Given the description of an element on the screen output the (x, y) to click on. 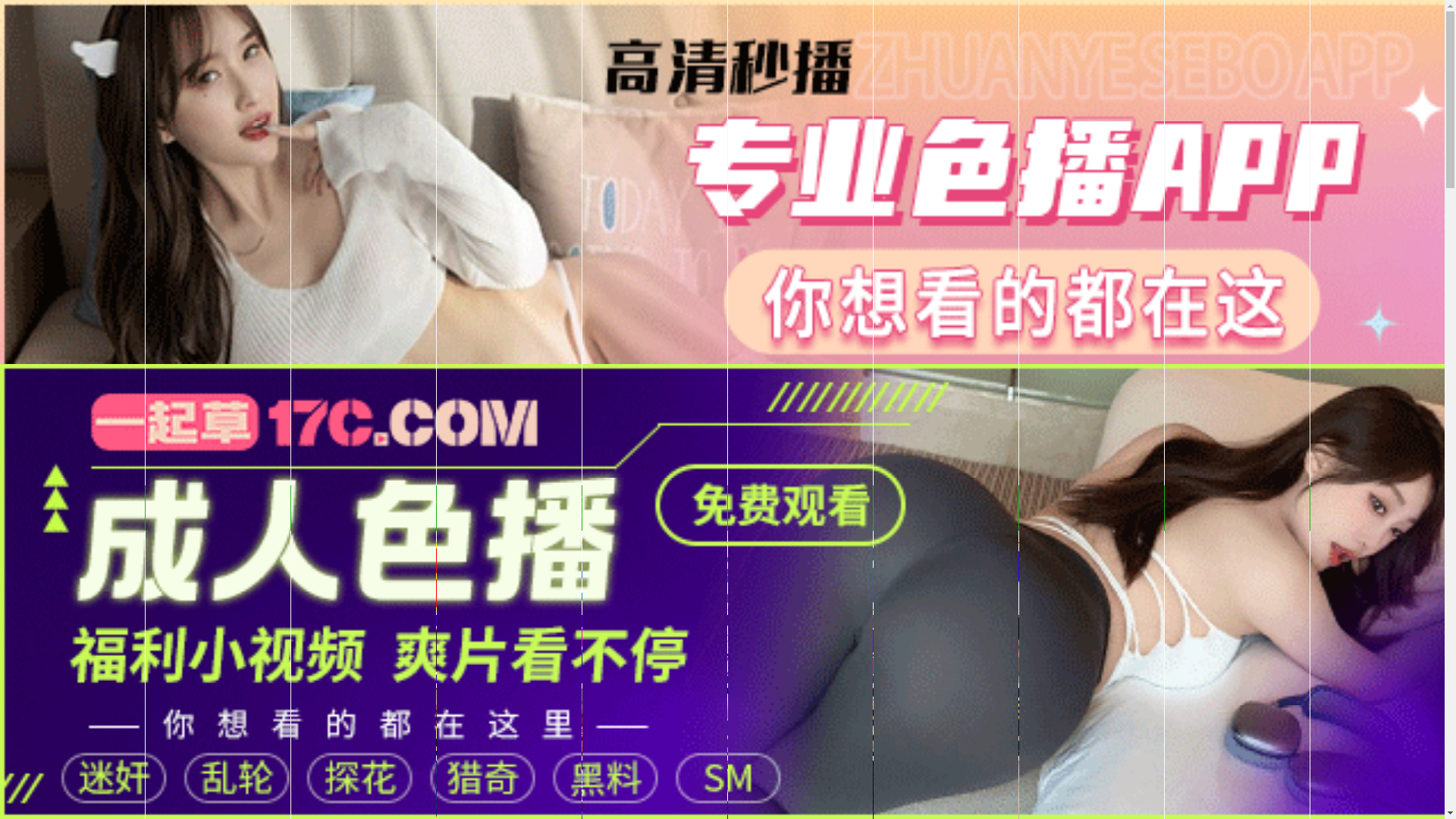
www.xmkk5.com Element type: text (693, 515)
32dv.Com Element type: text (411, 503)
